Given the description of an element on the screen output the (x, y) to click on. 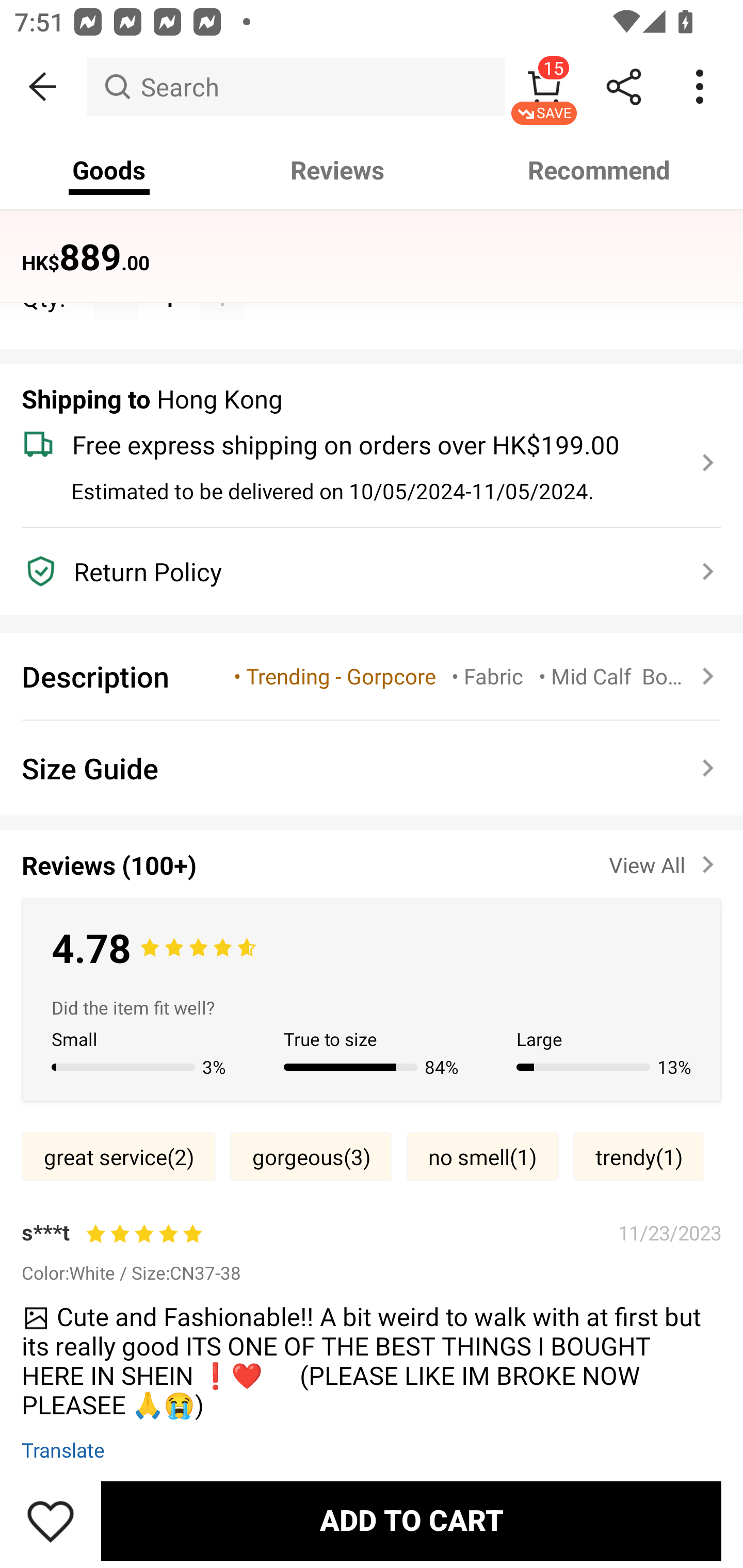
BACK (43, 86)
15 SAVE (543, 87)
Search (295, 87)
Goods (109, 170)
Reviews (337, 170)
Recommend (599, 170)
Qty: 1 (371, 275)
Return Policy (359, 571)
Size Guide (371, 768)
View All (664, 861)
great service(2) (118, 1156)
gorgeous(3) (311, 1156)
no smell(1) (482, 1156)
trendy(1) (638, 1156)
Translate (62, 1449)
ADD TO CART (411, 1520)
Save (50, 1520)
